Given the description of an element on the screen output the (x, y) to click on. 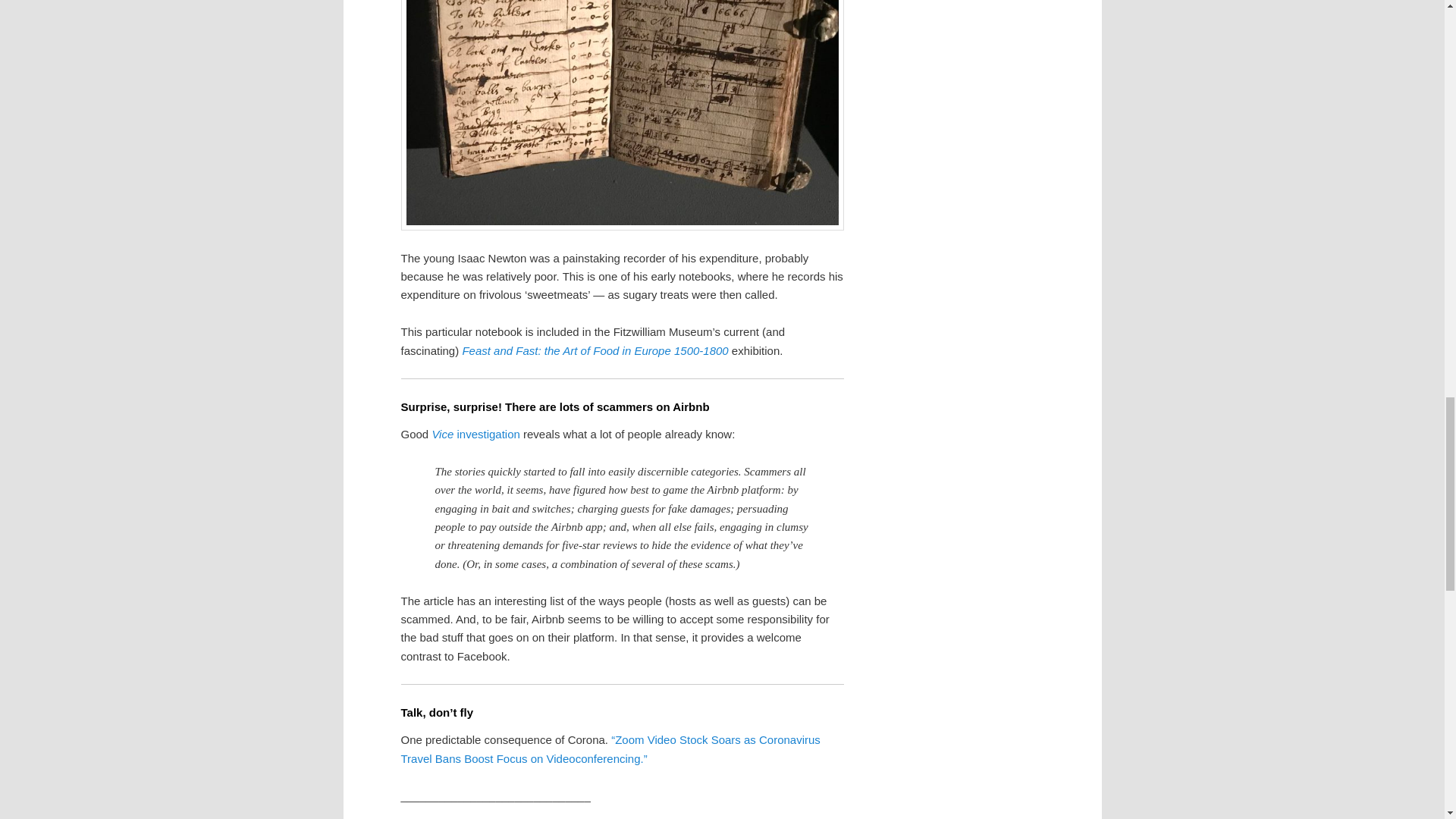
Vice investigation (474, 433)
Feast and Fast: the Art of Food in Europe 1500-1800 (594, 350)
